Given the description of an element on the screen output the (x, y) to click on. 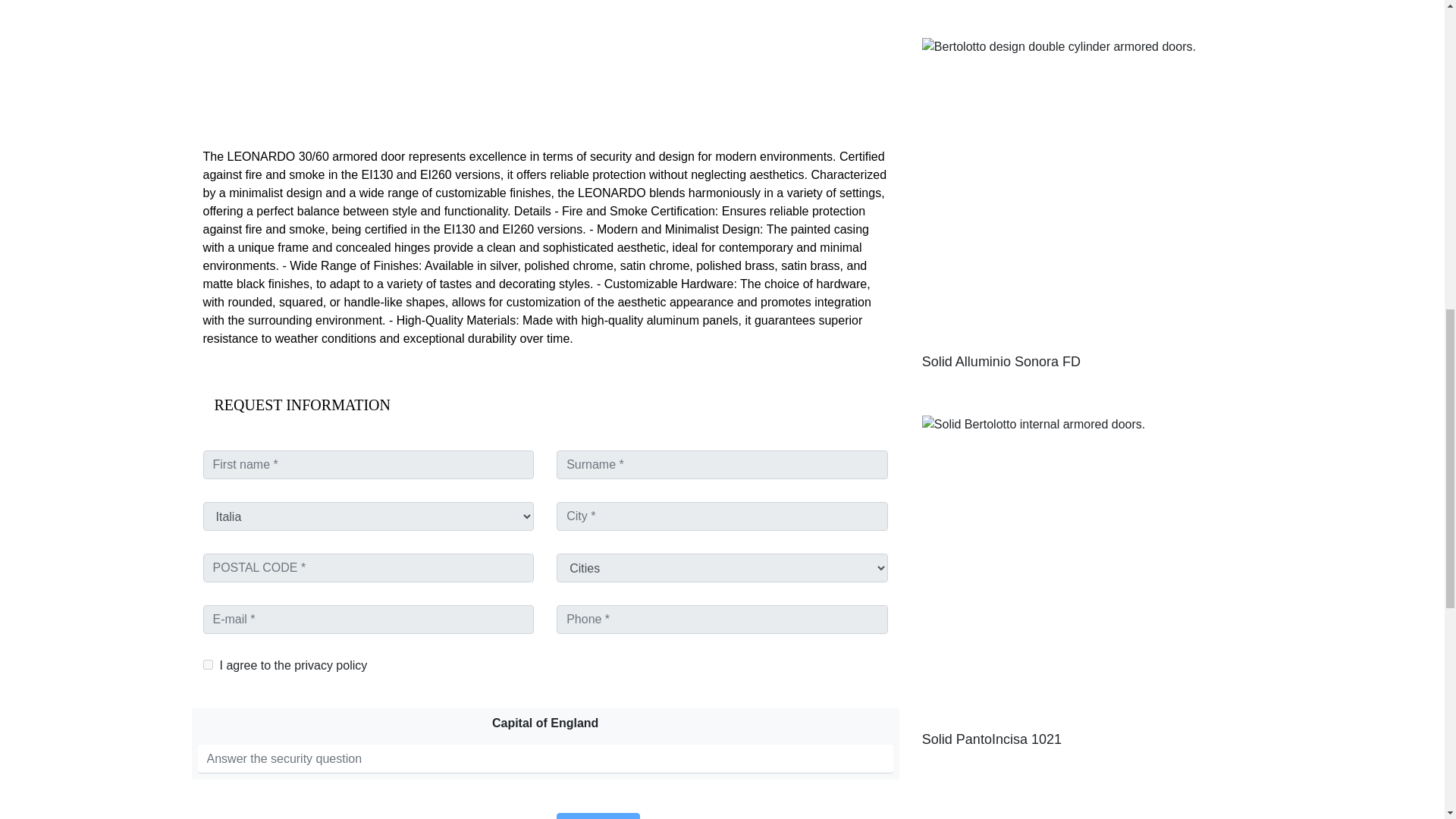
on (207, 664)
